Given the description of an element on the screen output the (x, y) to click on. 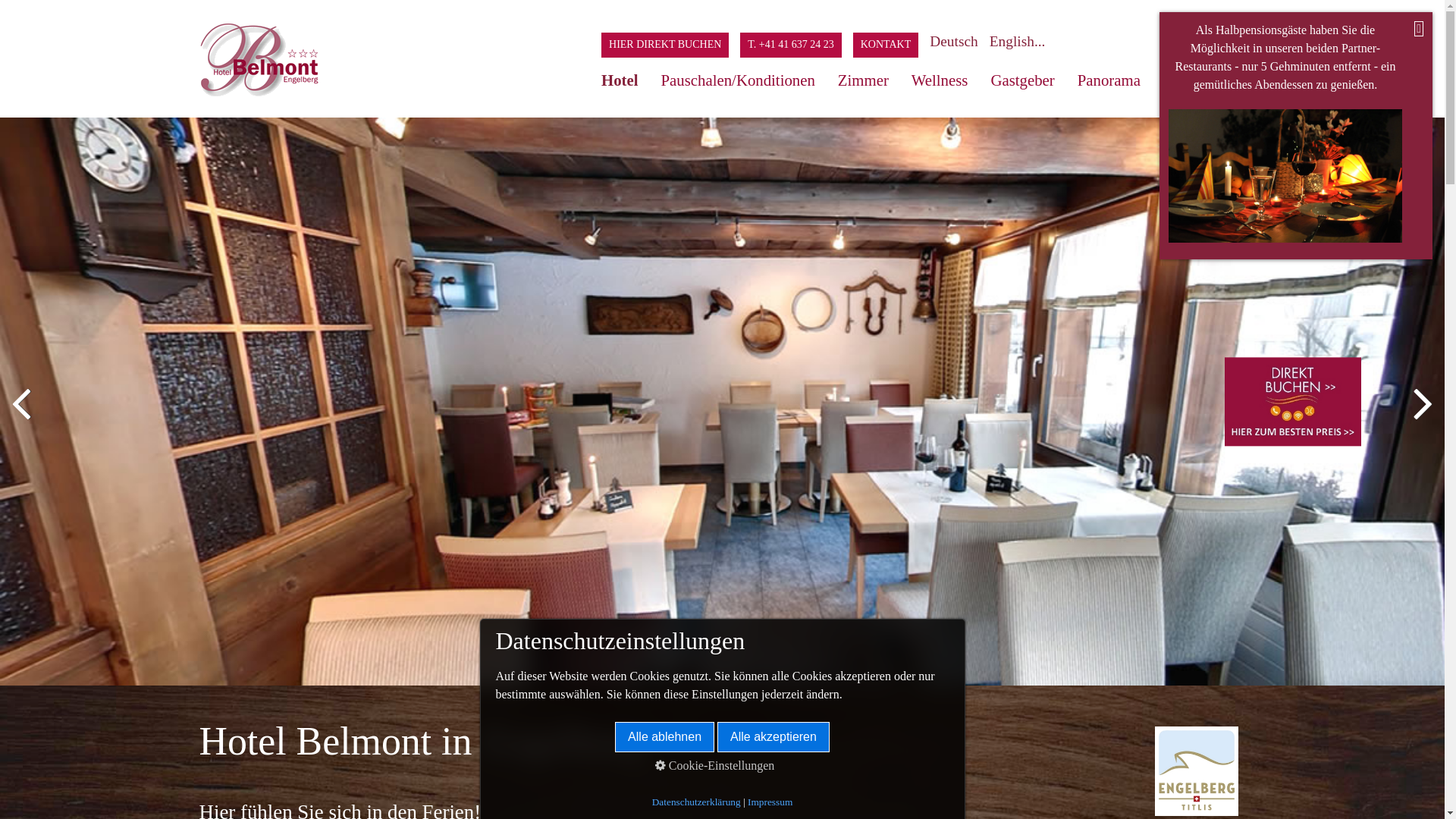
Pauschalen/Konditionen Element type: text (737, 79)
4 Element type: text (739, 659)
Cookie-Einstellungen Element type: text (714, 765)
weiter Element type: text (1421, 413)
2 Element type: text (700, 659)
3 Element type: text (720, 659)
Deutsch Element type: text (958, 40)
Wellness Element type: text (939, 79)
Hotel Element type: text (625, 79)
HIER DIREKT BUCHEN Element type: text (670, 43)
T. +41 41 637 24 23 Element type: text (796, 43)
1 Element type: text (680, 659)
5 Element type: text (759, 659)
Gastgeber Element type: text (1022, 79)
Panorama Element type: text (1108, 79)
Zimmer Element type: text (863, 79)
Alle akzeptieren Element type: text (773, 736)
Impressum Element type: text (769, 801)
English... Element type: text (1023, 40)
KONTAKT Element type: text (891, 43)
Alle ablehnen Element type: text (664, 736)
